Given the description of an element on the screen output the (x, y) to click on. 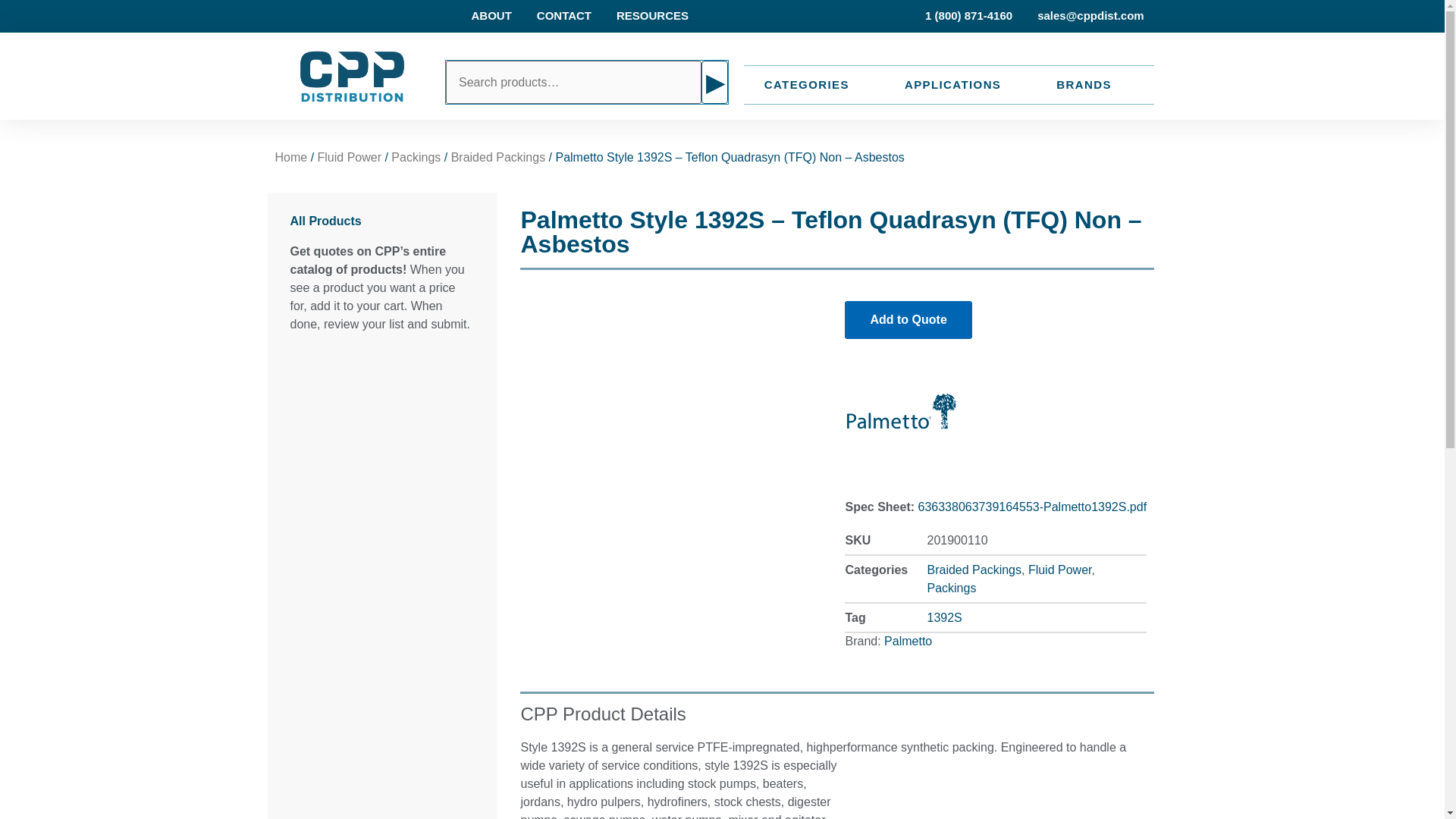
CONTACT (564, 16)
CATEGORIES (806, 85)
APPLICATIONS (951, 85)
ABOUT (490, 16)
BRANDS (1084, 85)
RESOURCES (651, 16)
